Given the description of an element on the screen output the (x, y) to click on. 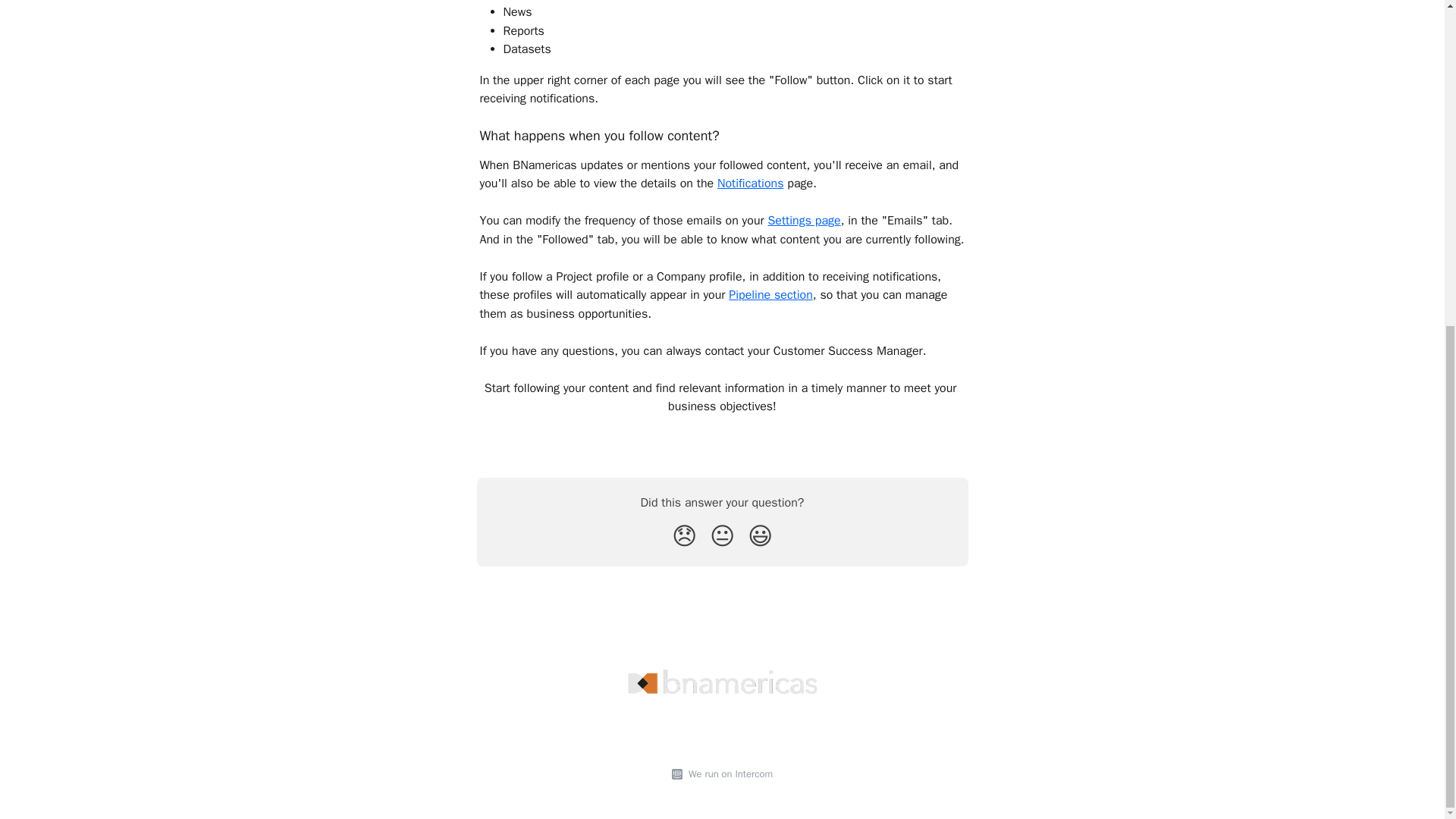
Settings page (803, 220)
We run on Intercom (727, 774)
Pipeline section (770, 294)
Notifications (750, 183)
